Given the description of an element on the screen output the (x, y) to click on. 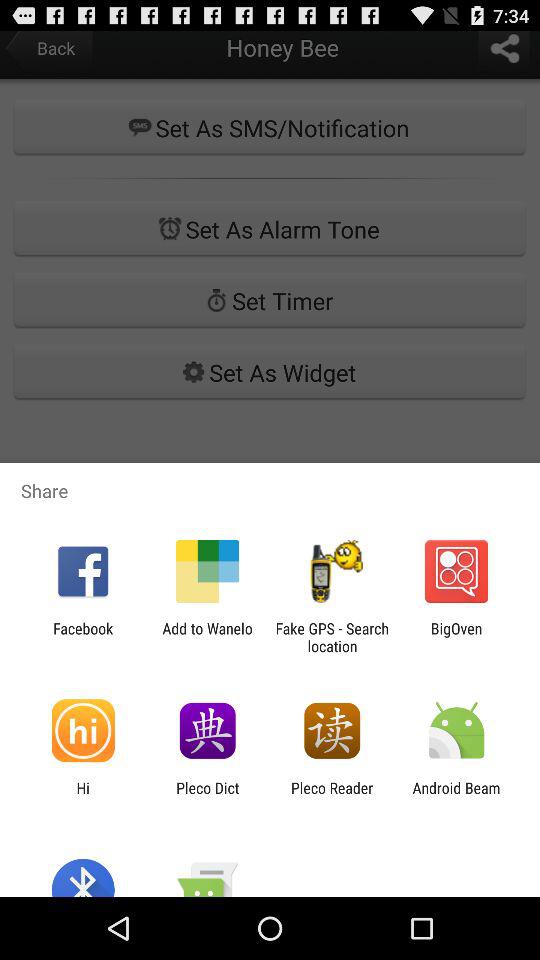
select app to the right of add to wanelo app (332, 637)
